Given the description of an element on the screen output the (x, y) to click on. 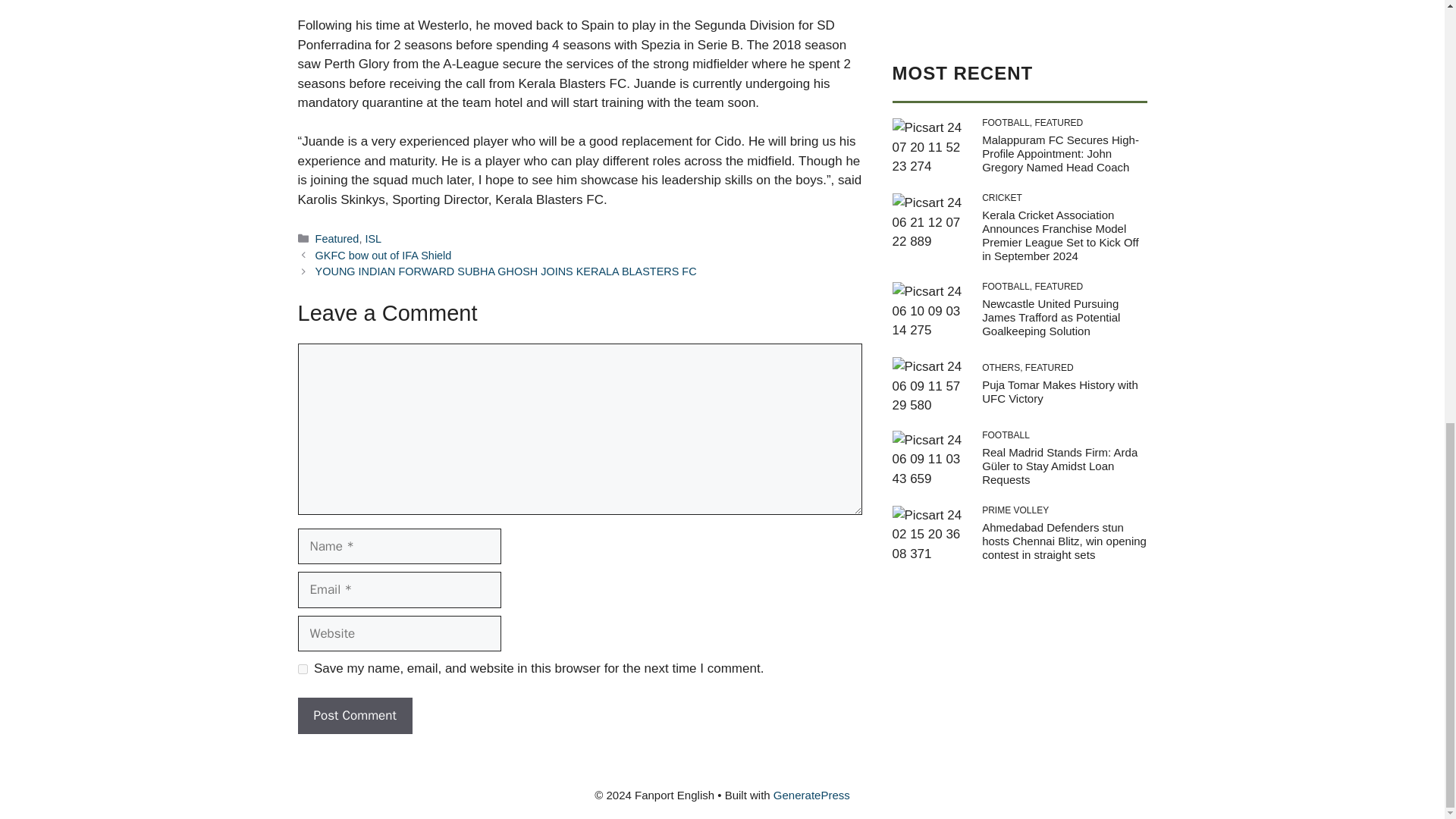
YOUNG INDIAN FORWARD SUBHA GHOSH JOINS KERALA BLASTERS FC (506, 271)
Post Comment (354, 715)
GeneratePress (811, 794)
Post Comment (354, 715)
GKFC bow out of IFA Shield (383, 255)
Puja Tomar Makes History with UFC Victory (1059, 57)
Featured (337, 238)
ISL (373, 238)
yes (302, 669)
